Given the description of an element on the screen output the (x, y) to click on. 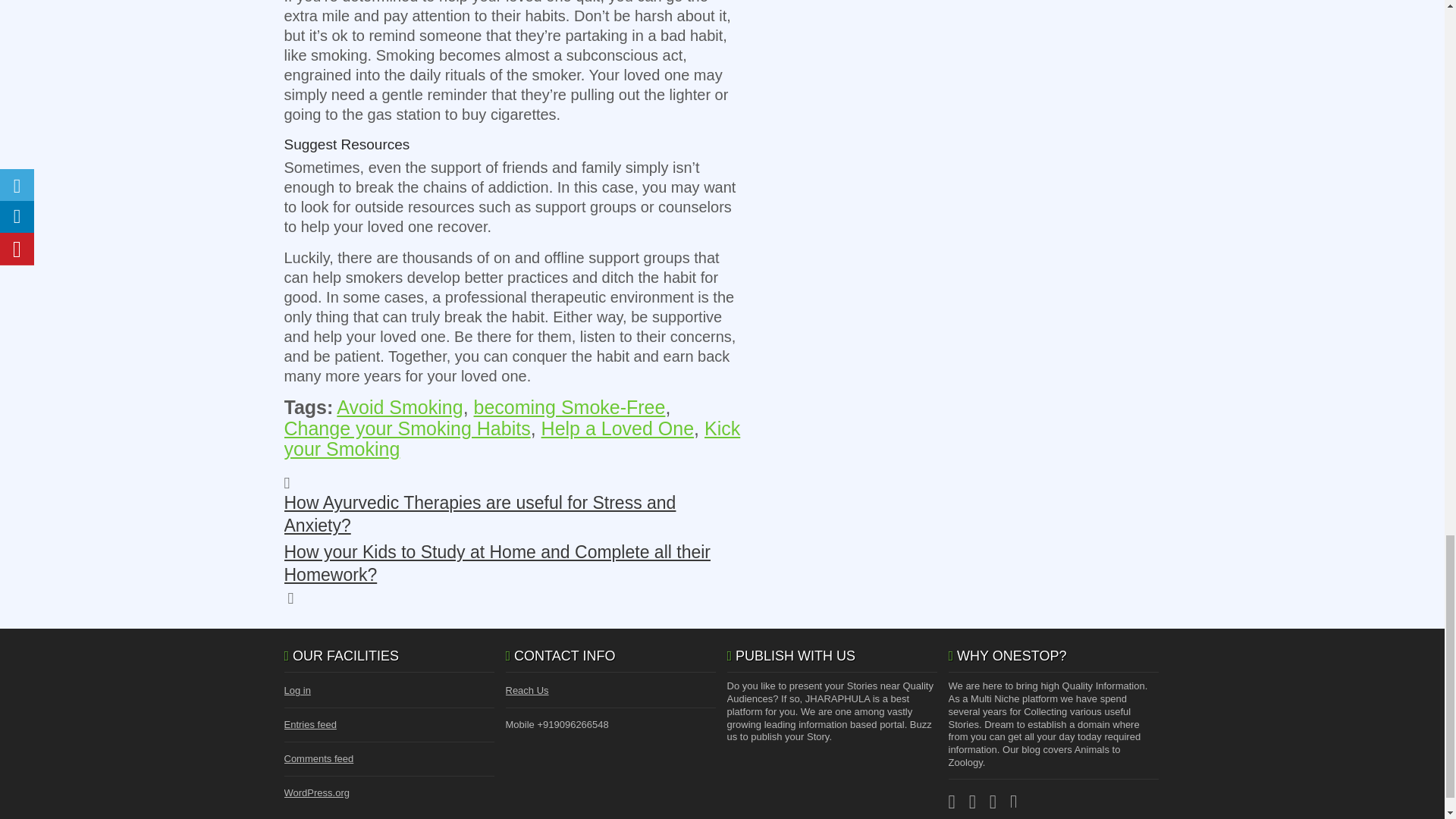
becoming Smoke-Free (569, 406)
Change your Smoking Habits (406, 427)
Avoid Smoking (399, 406)
